Given the description of an element on the screen output the (x, y) to click on. 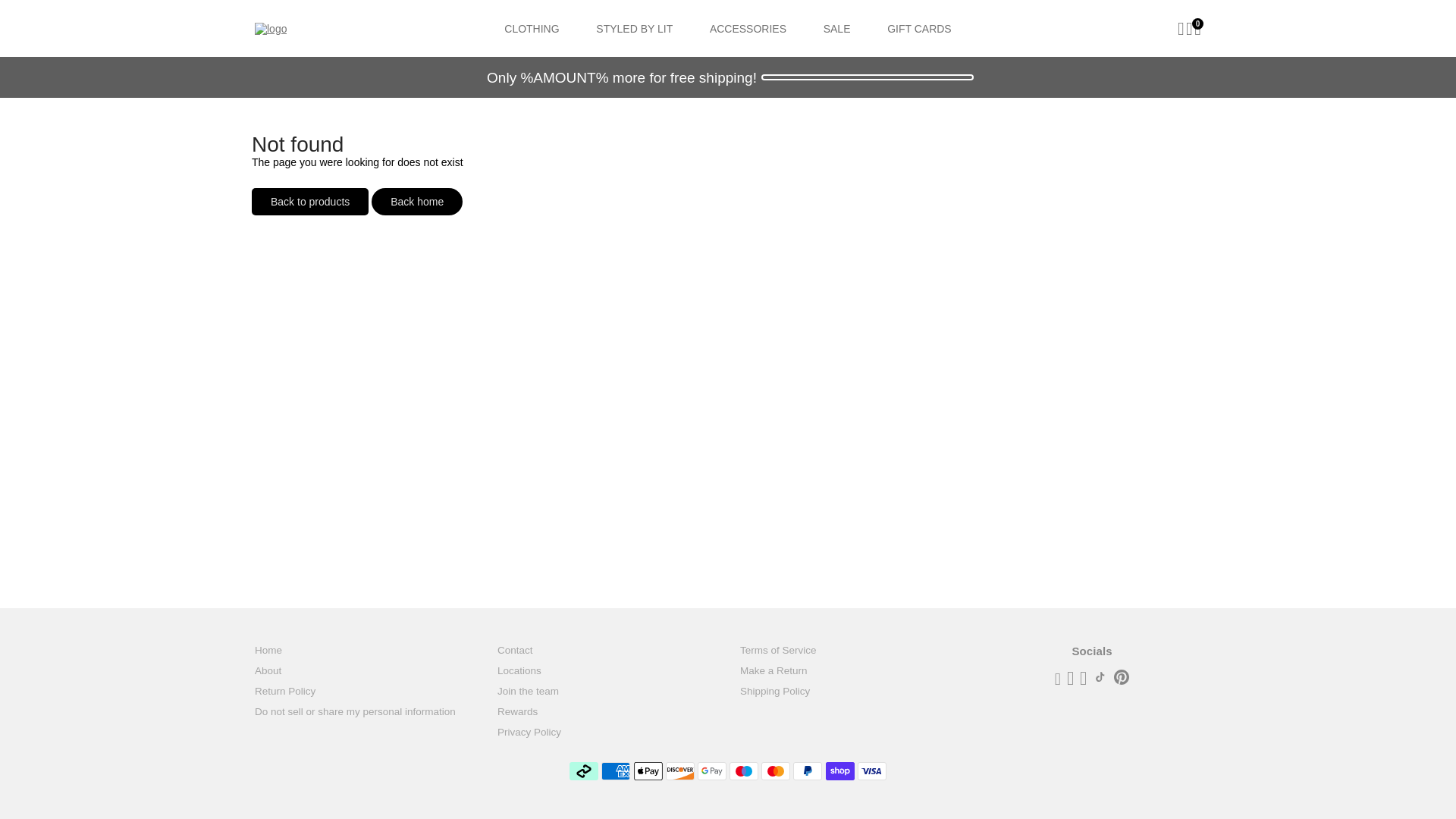
American Express (615, 771)
CLOTHING (531, 28)
Mastercard (775, 771)
PayPal (807, 771)
Maestro (743, 771)
Shop Pay (839, 771)
ACCESSORIES (748, 28)
STYLED BY LIT (633, 28)
Visa (871, 771)
Apple Pay (647, 771)
Google Pay (711, 771)
Afterpay (583, 771)
Discover (679, 771)
